Given the description of an element on the screen output the (x, y) to click on. 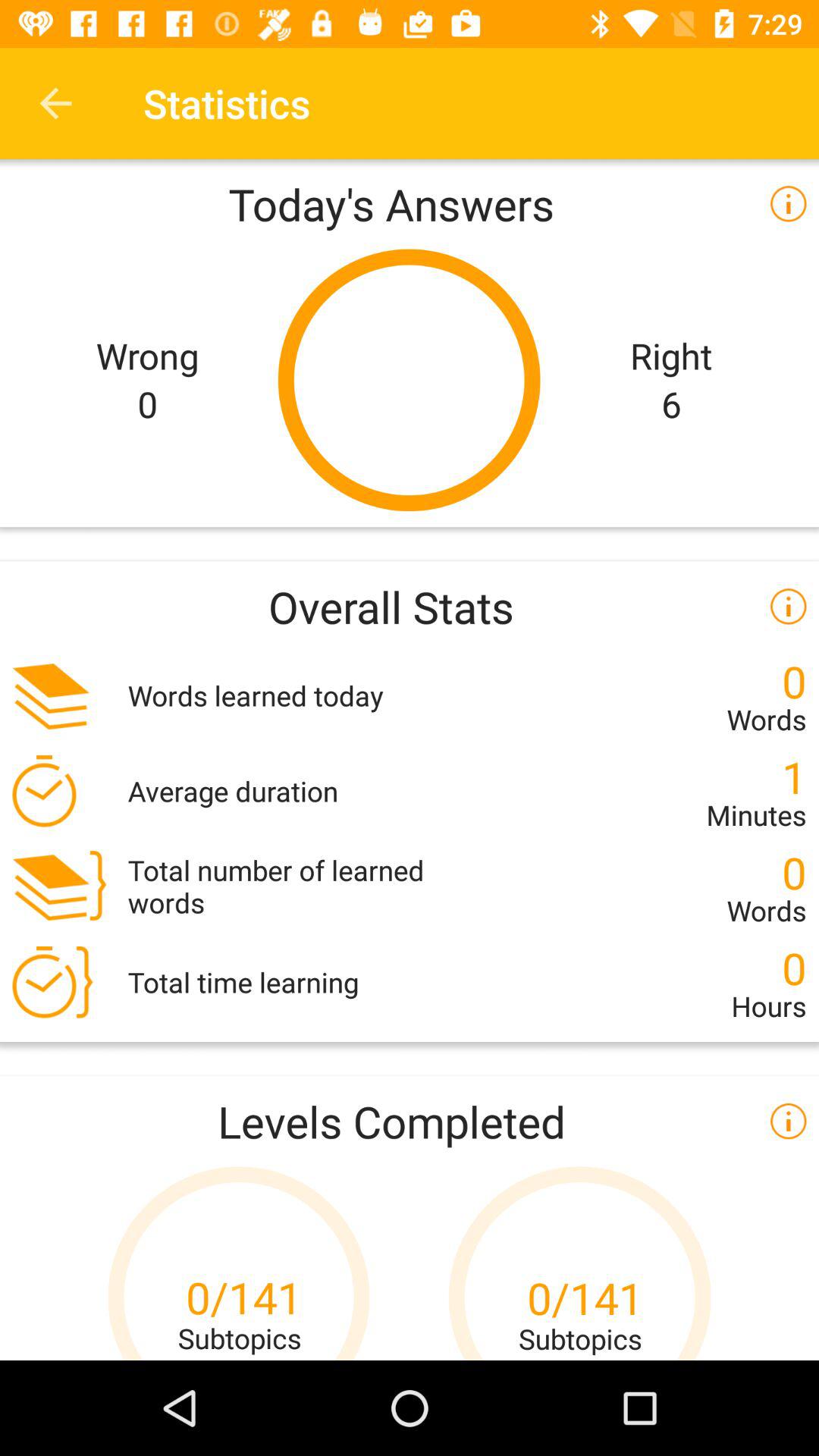
turn off today's answers (409, 203)
